Given the description of an element on the screen output the (x, y) to click on. 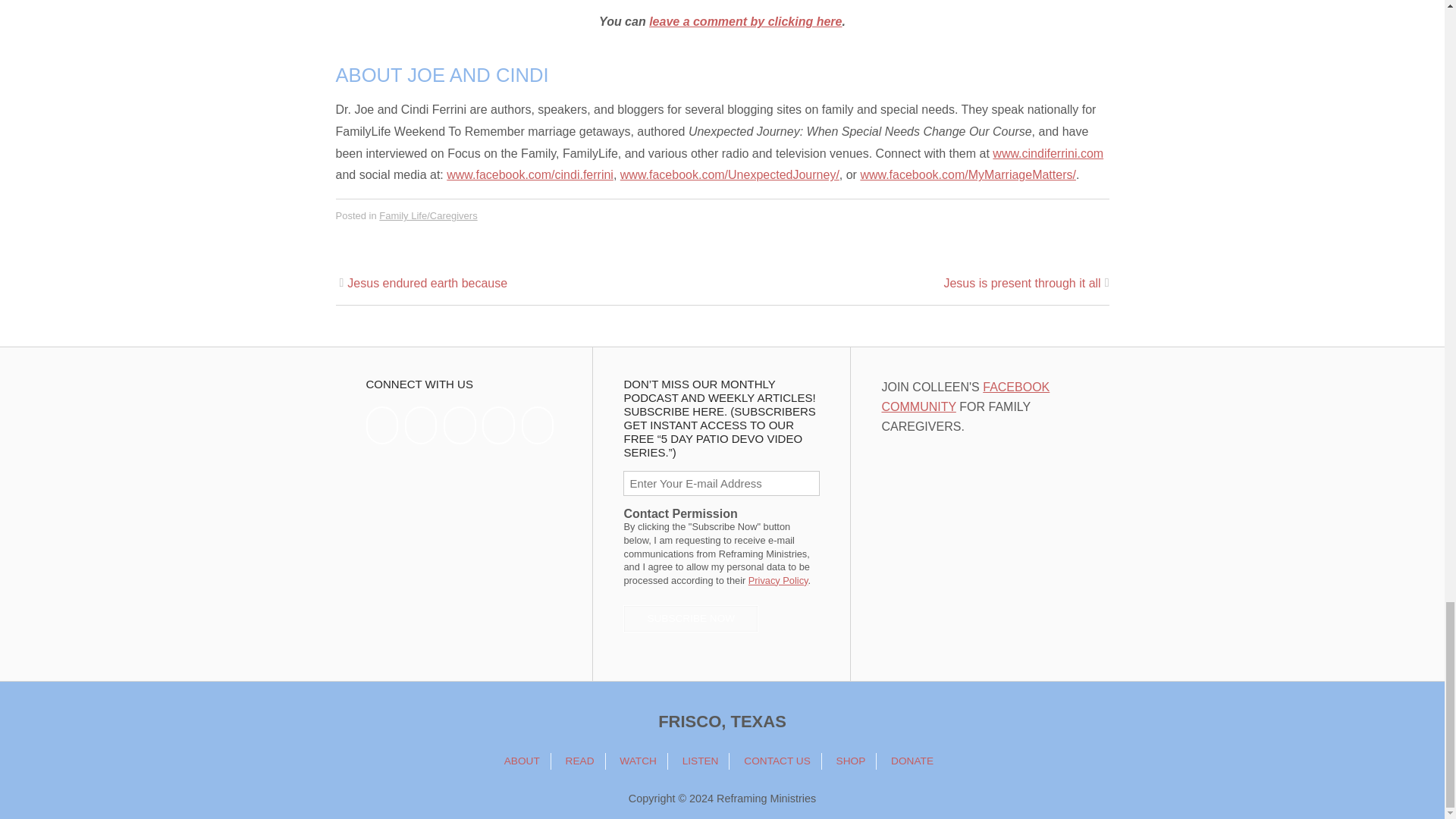
Privacy Policy (778, 580)
ABOUT (521, 760)
leave a comment by clicking here (745, 21)
Jesus endured earth because (426, 282)
FACEBOOK COMMUNITY (964, 396)
Jesus is present through it all (1021, 282)
www.cindiferrini.com (1047, 153)
Privacy Policy (778, 580)
Subscribe Now (690, 618)
Subscribe Now (690, 618)
